Given the description of an element on the screen output the (x, y) to click on. 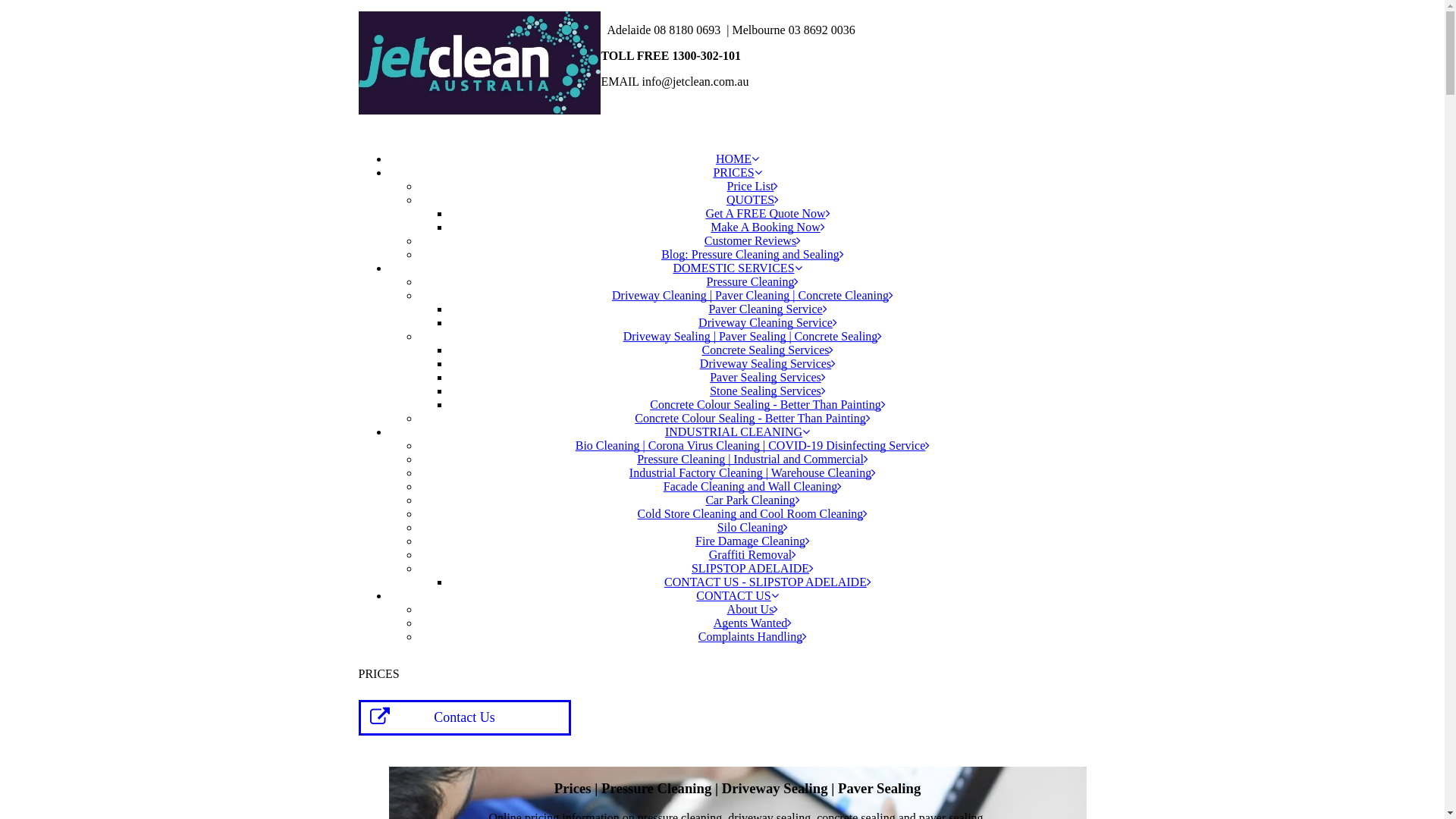
Facade Cleaning and Wall Cleaning Element type: text (752, 486)
Make A Booking Now Element type: text (767, 226)
Customer Reviews Element type: text (752, 240)
SLIPSTOP ADELAIDE Element type: text (752, 567)
Cold Store Cleaning and Cool Room Cleaning Element type: text (752, 513)
Concrete Colour Sealing - Better Than Painting Element type: text (767, 404)
Graffiti Removal Element type: text (752, 554)
QUOTES Element type: text (752, 199)
DOMESTIC SERVICES Element type: text (736, 267)
Pressure Cleaning Element type: text (752, 281)
Stone Sealing Services Element type: text (767, 390)
Driveway Sealing | Paver Sealing | Concrete Sealing Element type: text (752, 335)
Price List Element type: text (752, 185)
Pressure Cleaning | Industrial and Commercial Element type: text (752, 458)
Complaints Handling Element type: text (752, 636)
Driveway Cleaning | Paver Cleaning | Concrete Cleaning Element type: text (752, 294)
Silo Cleaning Element type: text (752, 526)
Paver Sealing Services Element type: text (767, 376)
Get A FREE Quote Now Element type: text (767, 213)
Fire Damage Cleaning Element type: text (752, 540)
HOME Element type: text (737, 158)
About Us Element type: text (752, 608)
Blog: Pressure Cleaning and Sealing Element type: text (752, 253)
Driveway Sealing Services Element type: text (767, 363)
PRICES Element type: text (736, 172)
Contact Us Element type: text (463, 717)
Agents Wanted Element type: text (752, 622)
Paver Cleaning Service Element type: text (767, 308)
CONTACT US - SLIPSTOP ADELAIDE Element type: text (767, 581)
Driveway Cleaning Service Element type: text (767, 322)
Concrete Colour Sealing - Better Than Painting Element type: text (752, 417)
CONTACT US Element type: text (737, 595)
Industrial Factory Cleaning | Warehouse Cleaning Element type: text (752, 472)
INDUSTRIAL CLEANING Element type: text (737, 431)
Concrete Sealing Services Element type: text (768, 349)
Car Park Cleaning Element type: text (752, 499)
